Given the description of an element on the screen output the (x, y) to click on. 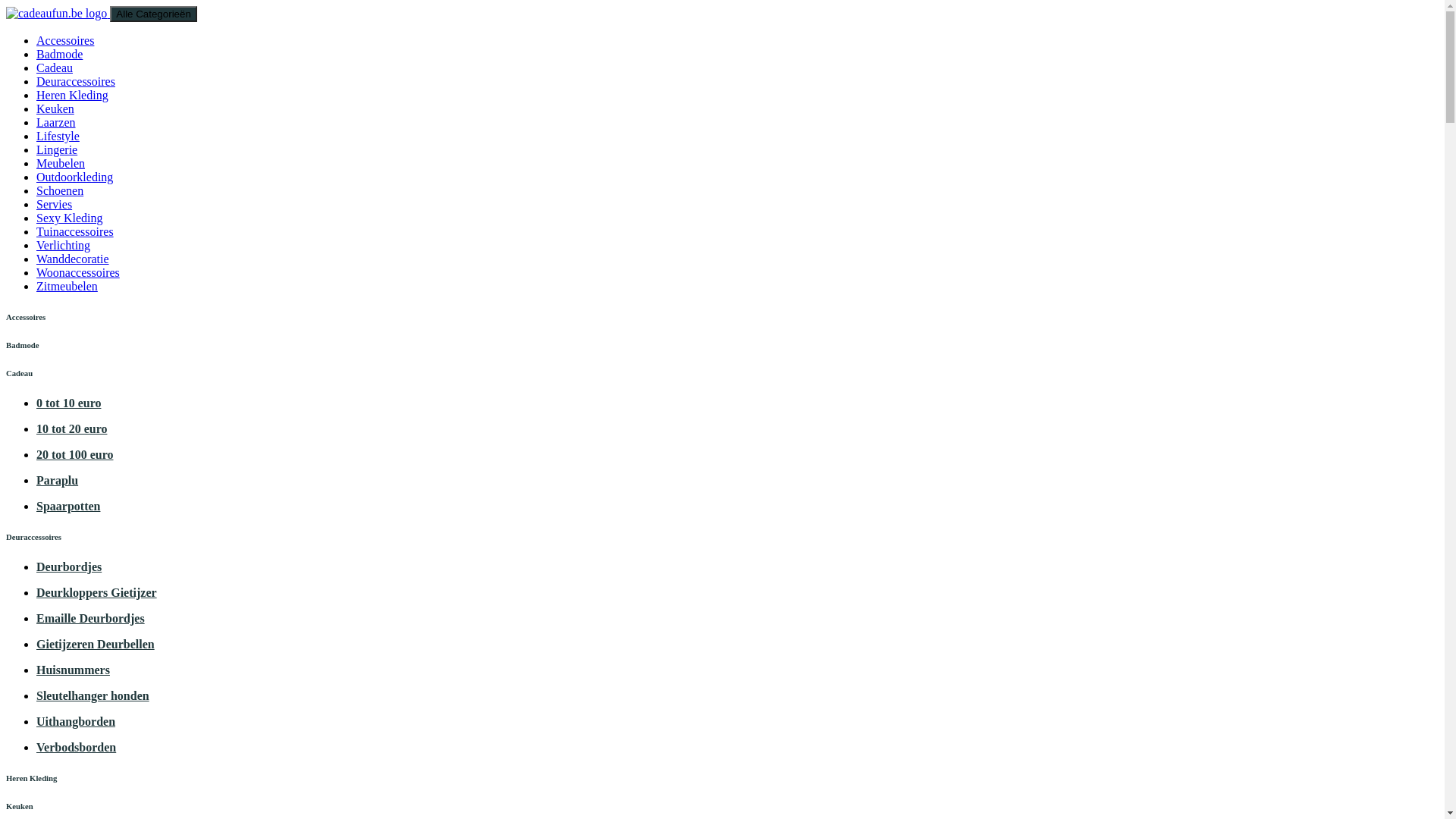
Cadeau Element type: text (54, 67)
Keuken Element type: text (55, 108)
Spaarpotten Element type: text (68, 505)
Sexy Kleding Element type: text (69, 217)
Deuraccessoires Element type: text (75, 81)
Verlichting Element type: text (63, 244)
Servies Element type: text (54, 203)
Meubelen Element type: text (60, 162)
Tuinaccessoires Element type: text (74, 231)
Badmode Element type: text (59, 53)
Huisnummers Element type: text (72, 669)
Gietijzeren Deurbellen Element type: text (95, 643)
Zitmeubelen Element type: text (66, 285)
Deurbordjes Element type: text (68, 566)
Lingerie Element type: text (56, 149)
Heren Kleding Element type: text (72, 94)
Laarzen Element type: text (55, 122)
Accessoires Element type: text (65, 40)
Emaille Deurbordjes Element type: text (90, 617)
Paraplu Element type: text (57, 479)
Lifestyle Element type: text (57, 135)
Uithangborden Element type: text (75, 721)
20 tot 100 euro Element type: text (74, 454)
10 tot 20 euro Element type: text (71, 428)
0 tot 10 euro Element type: text (68, 402)
Wanddecoratie Element type: text (72, 258)
Outdoorkleding Element type: text (74, 176)
Verbodsborden Element type: text (76, 746)
Deurkloppers Gietijzer Element type: text (96, 592)
Terug naar cadeaufun.be home Element type: hover (57, 12)
Sleutelhanger honden Element type: text (92, 695)
Woonaccessoires Element type: text (77, 272)
Schoenen Element type: text (59, 190)
